Given the description of an element on the screen output the (x, y) to click on. 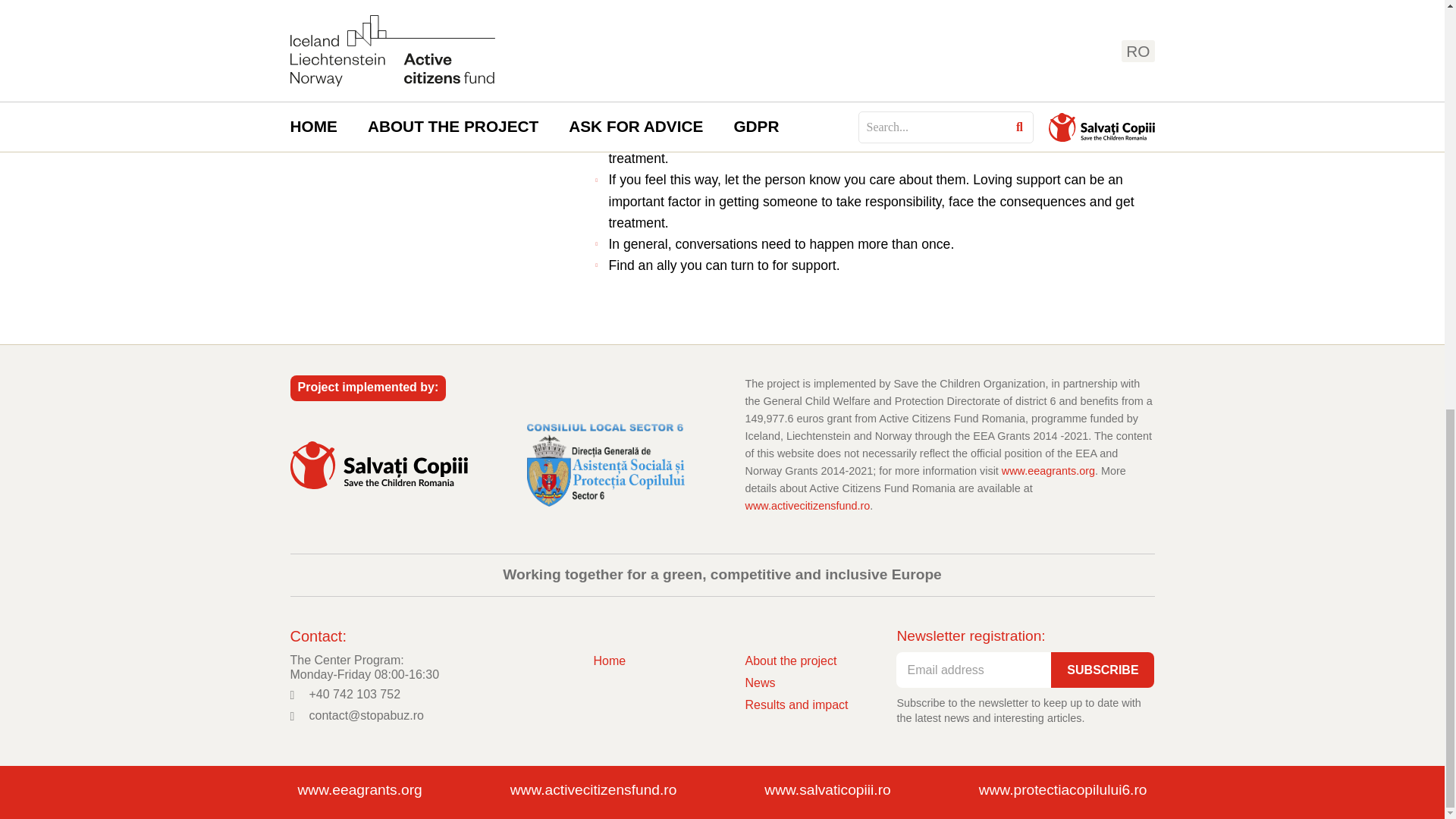
www.protectiacopilului6.ro (1062, 789)
SUBSCRIBE (1102, 669)
www.eeagrants.org (359, 789)
www.activecitizensfund.ro (594, 789)
Home (609, 660)
www.activecitizensfund.ro (806, 505)
About the project (795, 660)
News (795, 682)
Results and impact (795, 704)
www.salvaticopiii.ro (826, 789)
